Given the description of an element on the screen output the (x, y) to click on. 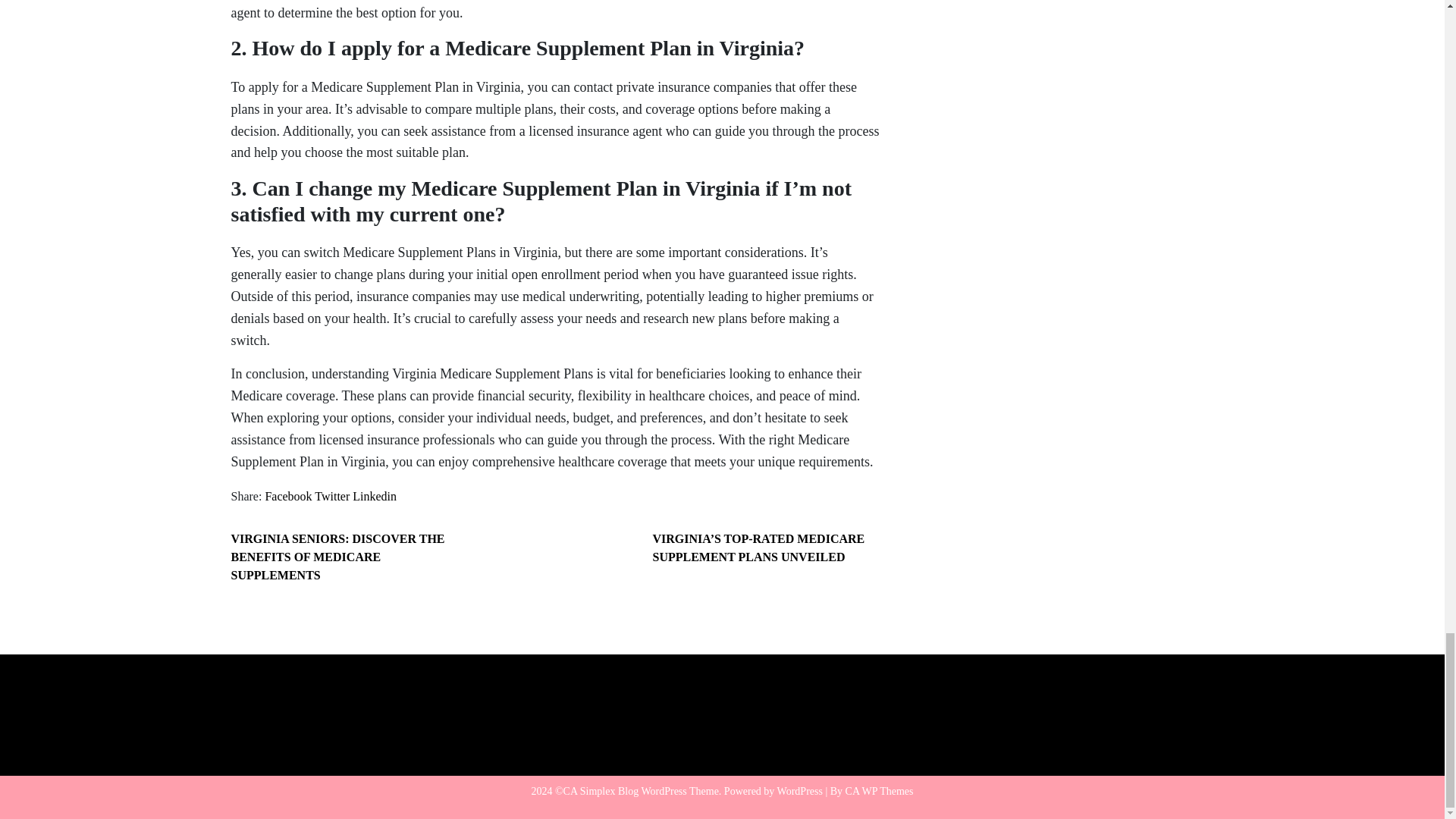
Linkedin (374, 495)
CA WP Themes (879, 790)
Facebook (287, 495)
Twitter (331, 495)
